Given the description of an element on the screen output the (x, y) to click on. 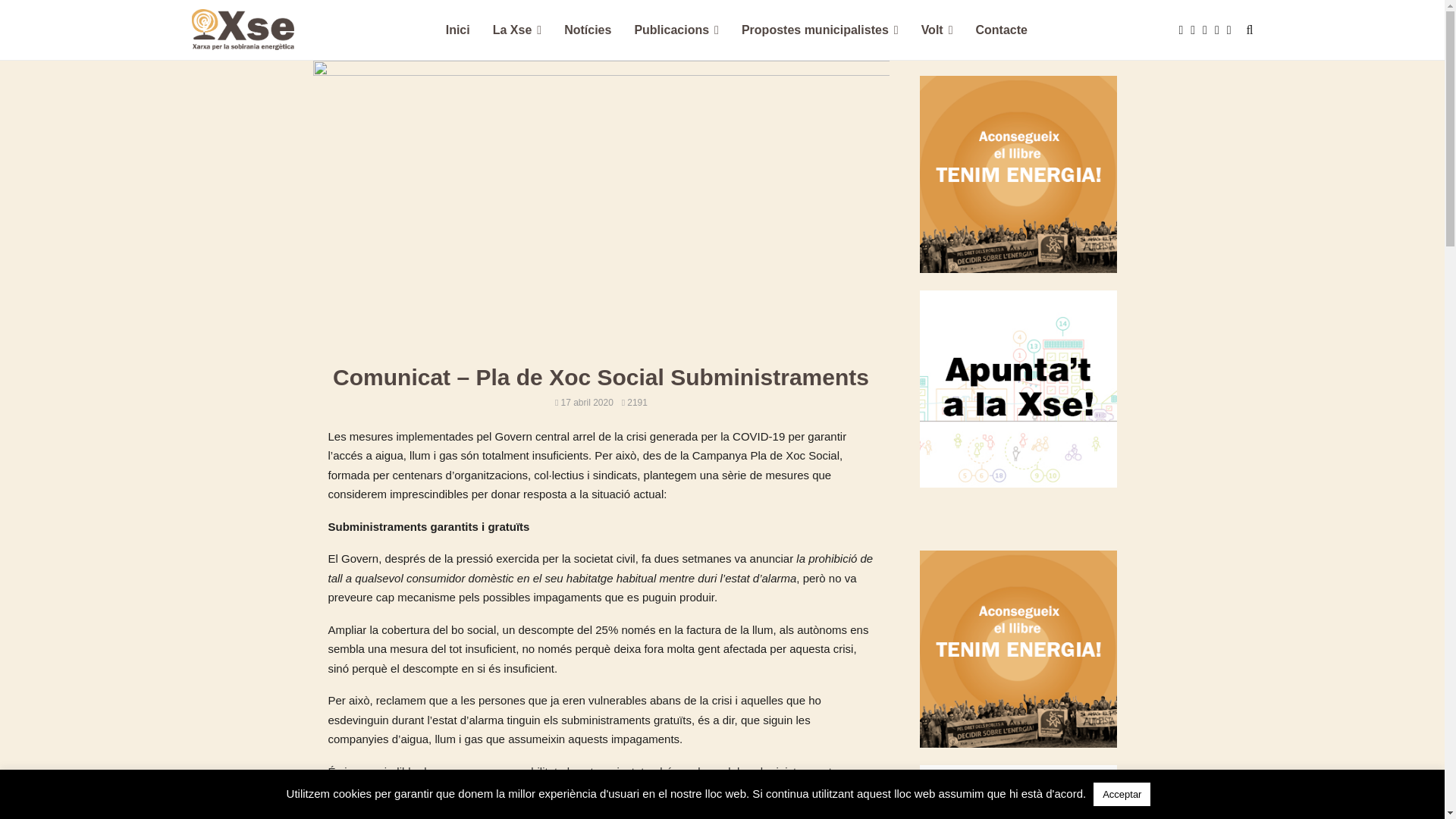
Acceptar Element type: text (1121, 794)
Telegram Element type: hover (1232, 30)
Facebook Element type: hover (1184, 30)
Email Element type: hover (1220, 30)
Youtube Element type: hover (1208, 30)
manifest Xse Element type: hover (1017, 174)
Twitter Element type: hover (1196, 30)
Publicacions Element type: text (675, 30)
Propostes municipalistes Element type: text (819, 30)
manifest Xse Element type: hover (1017, 648)
La Xse Element type: text (516, 30)
Contacte Element type: text (1000, 30)
Apunta't Element type: hover (1017, 388)
Inici Element type: text (457, 30)
Volt Element type: text (937, 30)
